Given the description of an element on the screen output the (x, y) to click on. 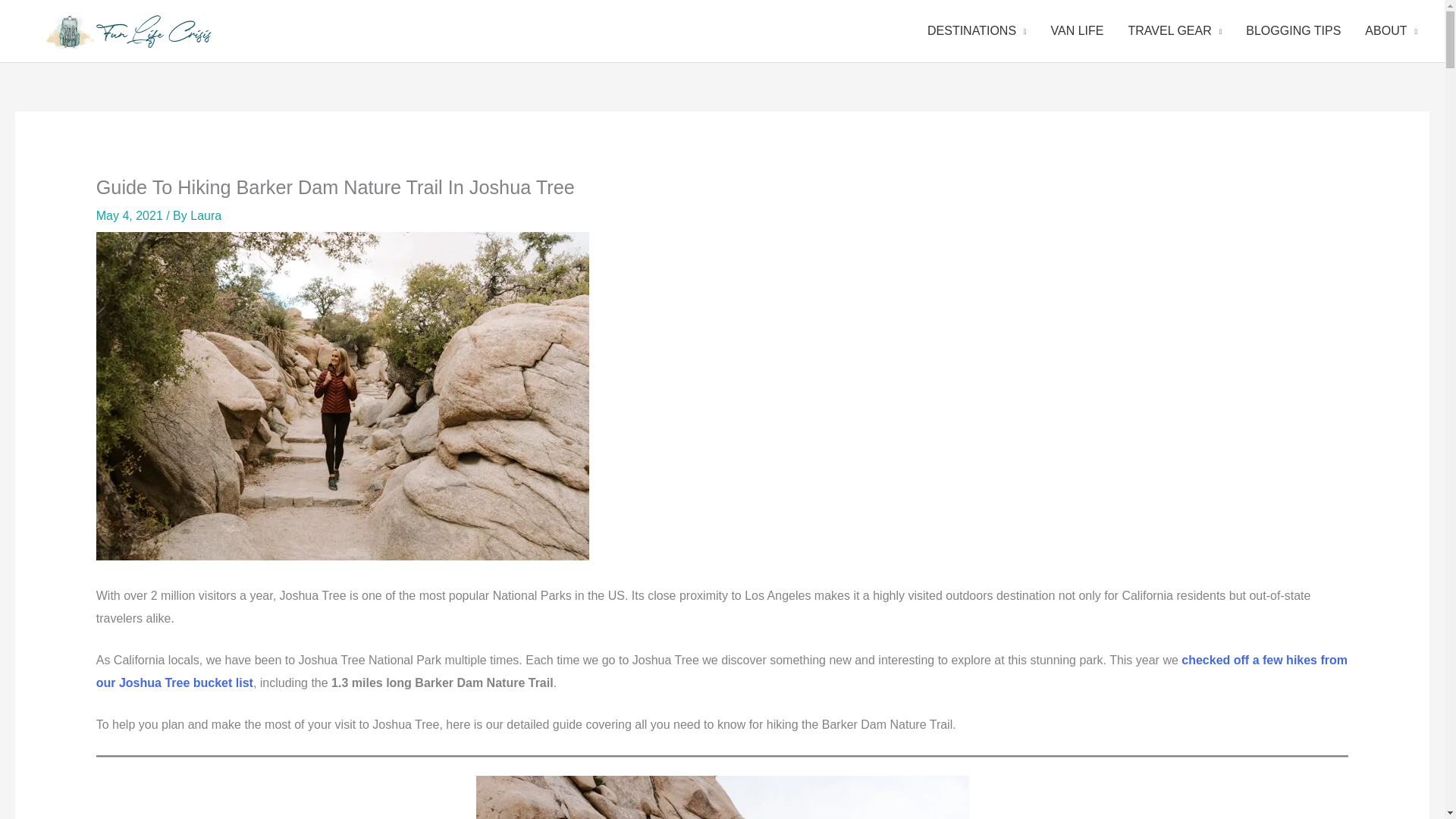
Laura (205, 215)
TRAVEL GEAR (1175, 30)
View all posts by Laura (205, 215)
VAN LIFE (1077, 30)
DESTINATIONS (977, 30)
checked off a few hikes from our Joshua Tree bucket list (722, 671)
ABOUT (1390, 30)
BLOGGING TIPS (1292, 30)
